Given the description of an element on the screen output the (x, y) to click on. 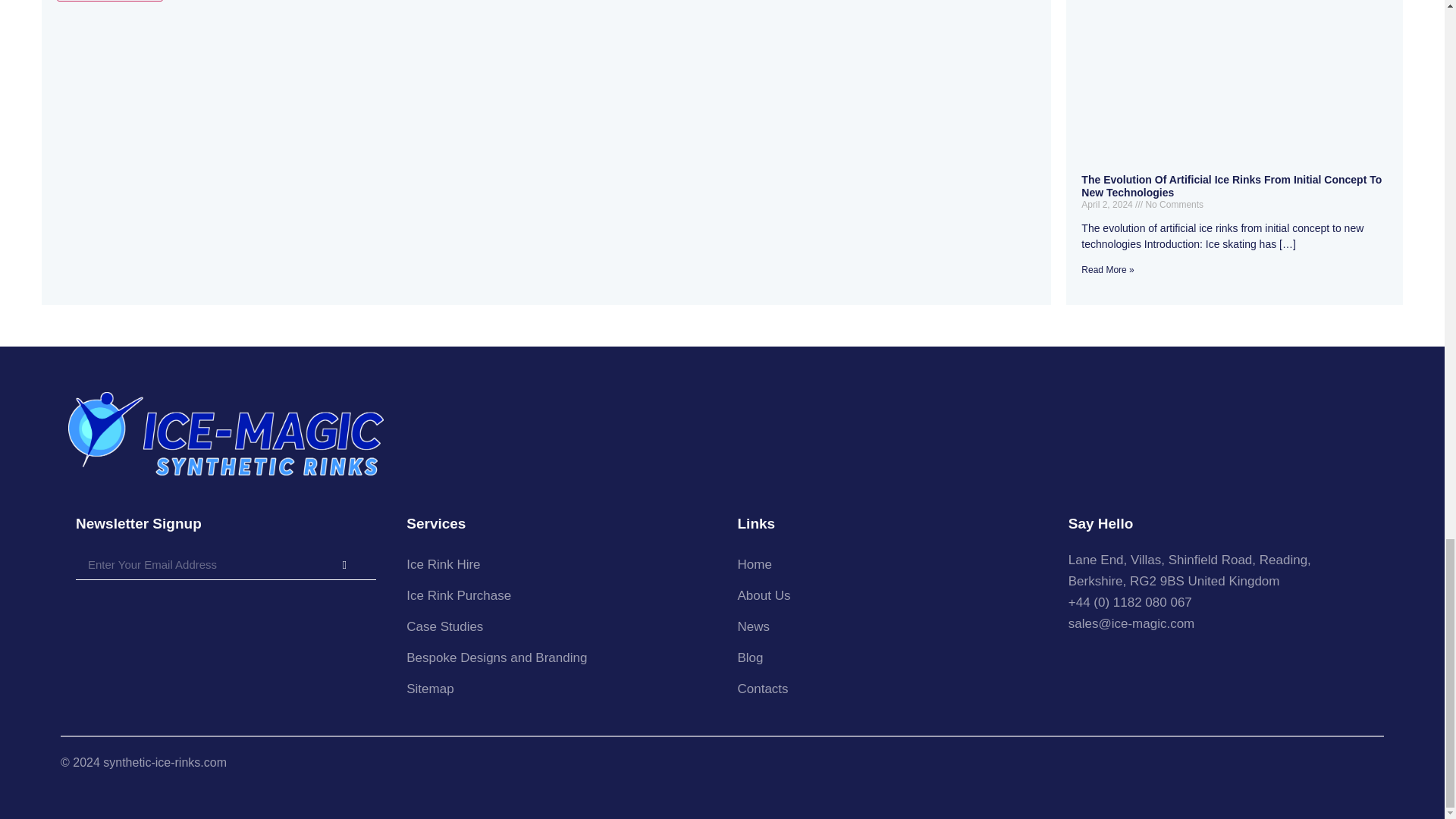
Post Comment (109, 0)
Post Comment (109, 0)
